Given the description of an element on the screen output the (x, y) to click on. 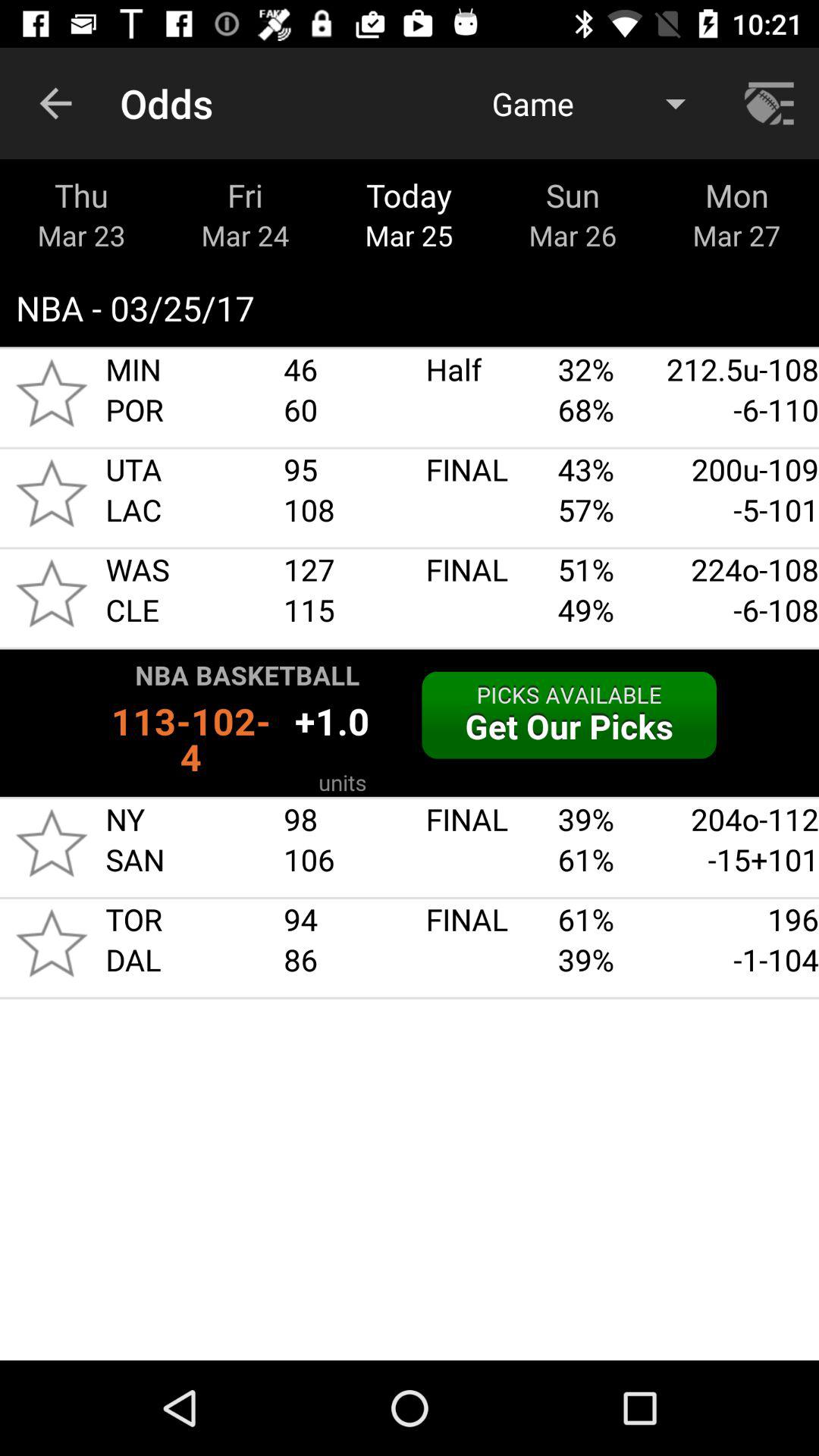
open advertisement (409, 722)
